Given the description of an element on the screen output the (x, y) to click on. 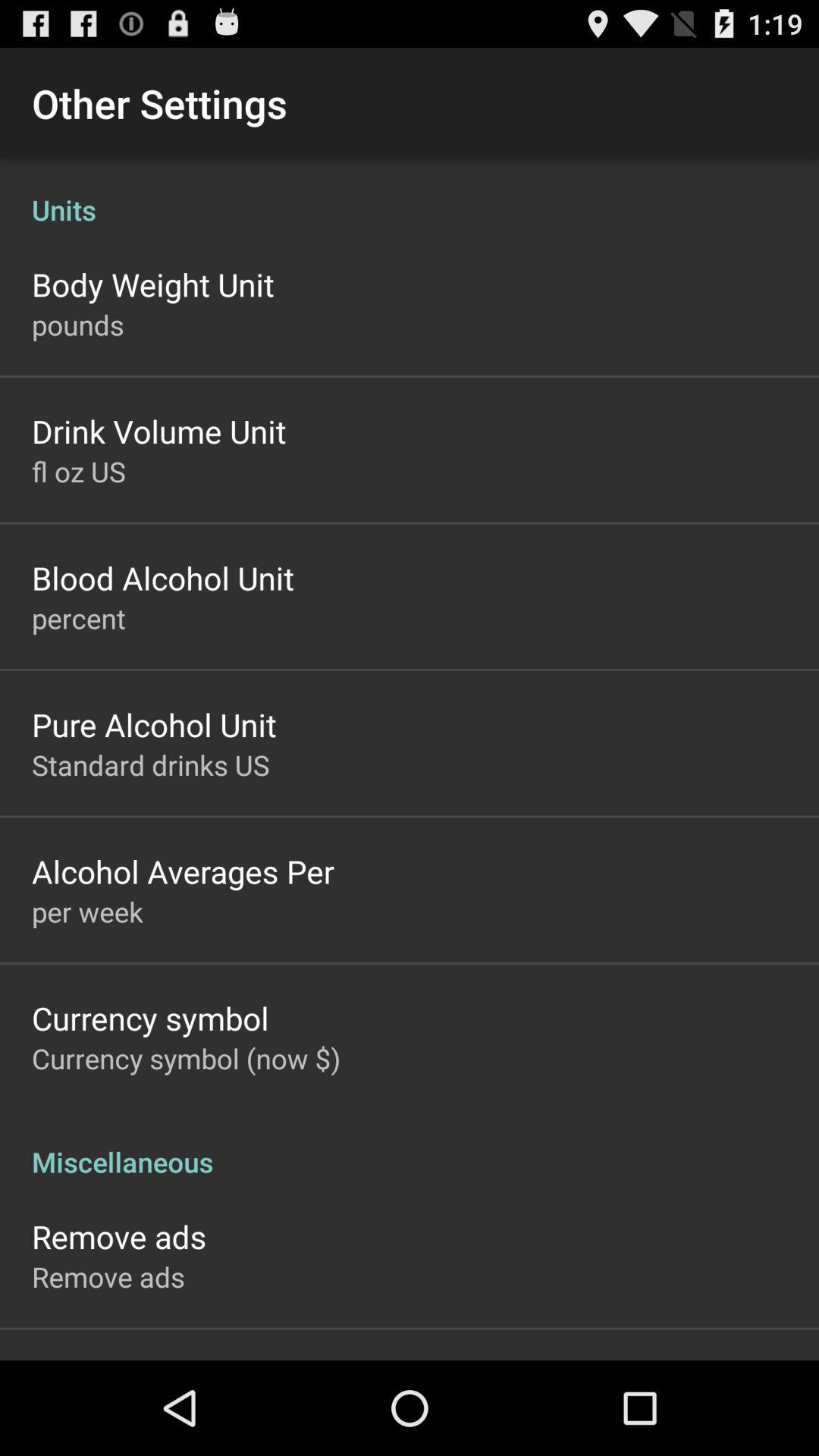
tap the miscellaneous icon (409, 1145)
